Given the description of an element on the screen output the (x, y) to click on. 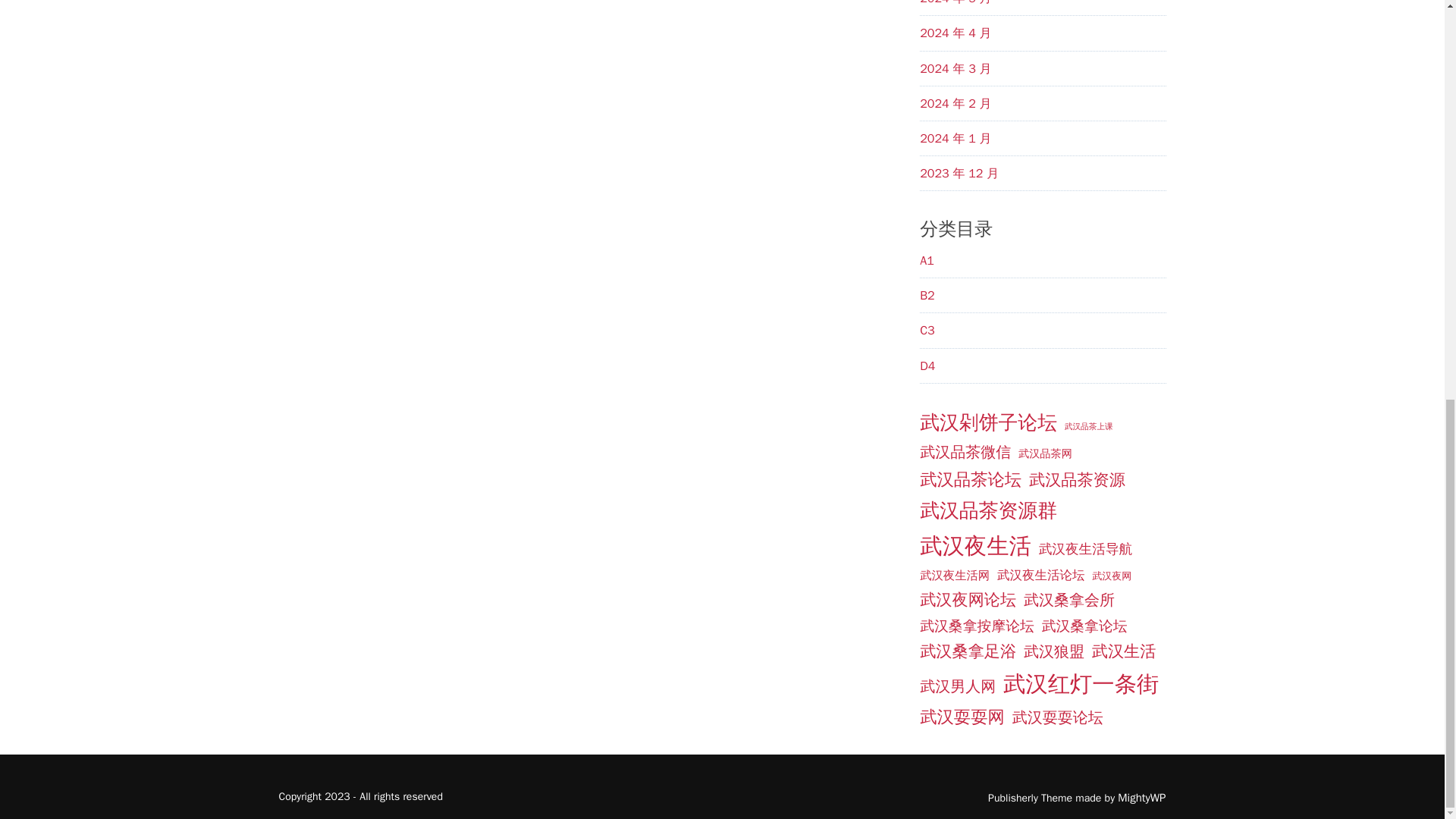
C3 (927, 330)
D4 (927, 365)
A1 (927, 260)
B2 (927, 295)
